Given the description of an element on the screen output the (x, y) to click on. 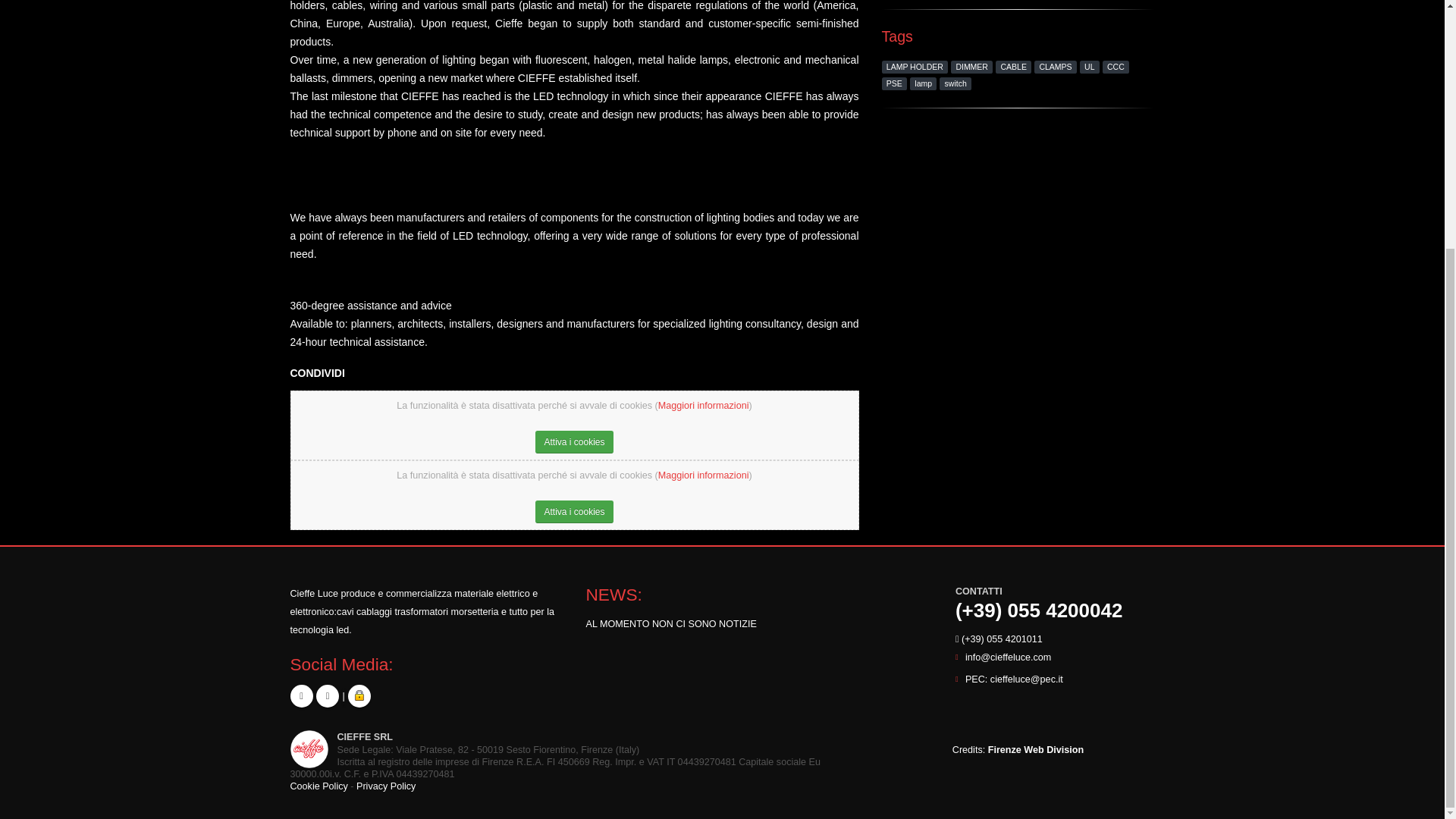
Attiva i cookies (573, 441)
Privacy Policy (385, 786)
Attiva i cookies (573, 511)
Cookie Policy (318, 786)
Maggiori informazioni (703, 475)
Google Plus (301, 695)
Facebook (327, 695)
Maggiori informazioni (703, 405)
Area Riservata (359, 695)
